Given the description of an element on the screen output the (x, y) to click on. 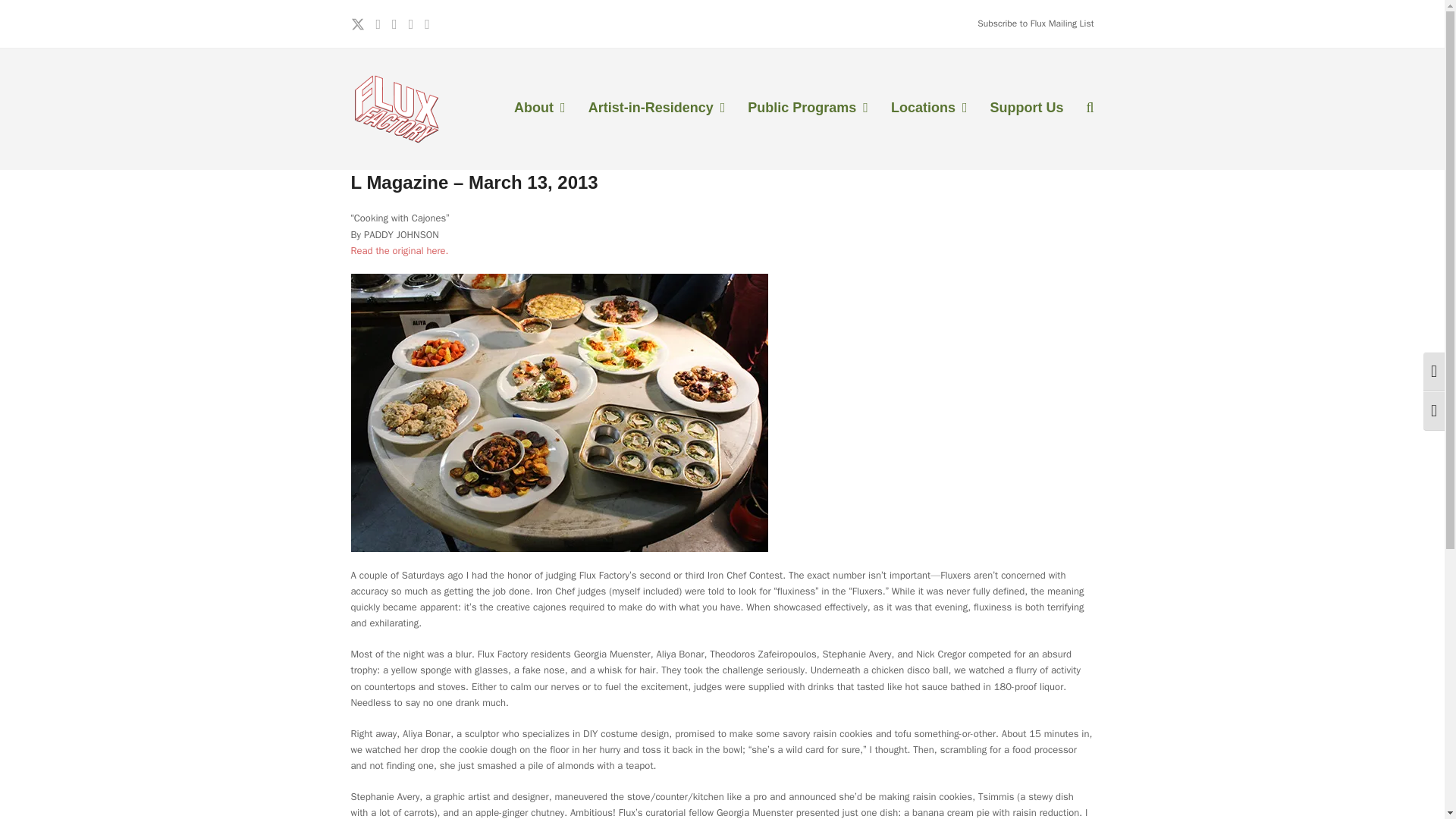
Read the original here. (399, 250)
About (539, 108)
Subscribe to Flux Mailing List (1034, 23)
Locations (928, 108)
Artist-in-Residency (656, 108)
Public Programs (807, 108)
Support Us (1026, 108)
